Given the description of an element on the screen output the (x, y) to click on. 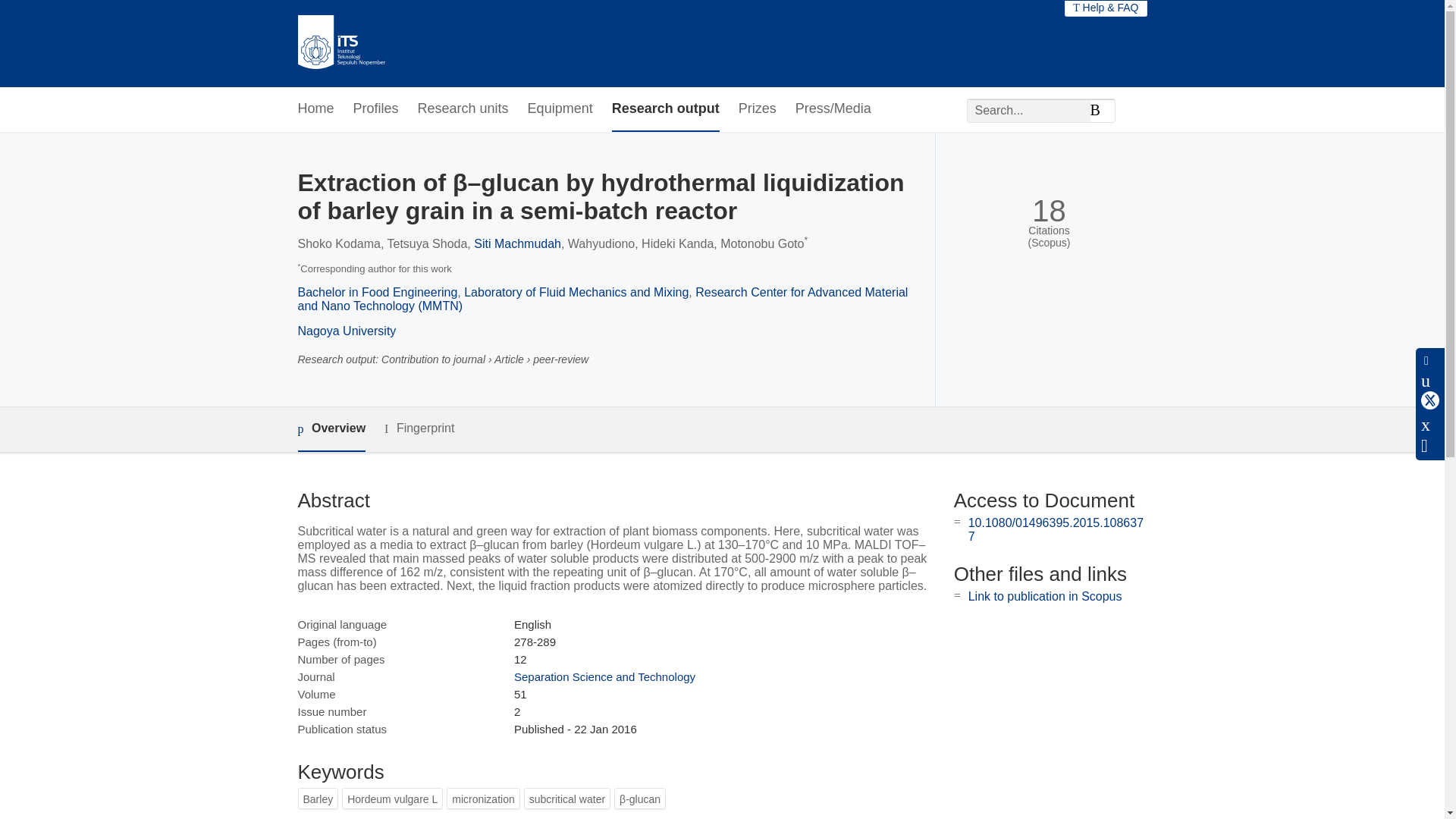
Separation Science and Technology (604, 676)
Bachelor in Food Engineering (377, 291)
Nagoya University (346, 330)
Overview (331, 429)
Fingerprint (419, 428)
Link to publication in Scopus (1045, 595)
Research units (462, 108)
Research output (665, 108)
Equipment (559, 108)
Profiles (375, 108)
Siti Machmudah (517, 243)
Laboratory of Fluid Mechanics and Mixing (576, 291)
